Given the description of an element on the screen output the (x, y) to click on. 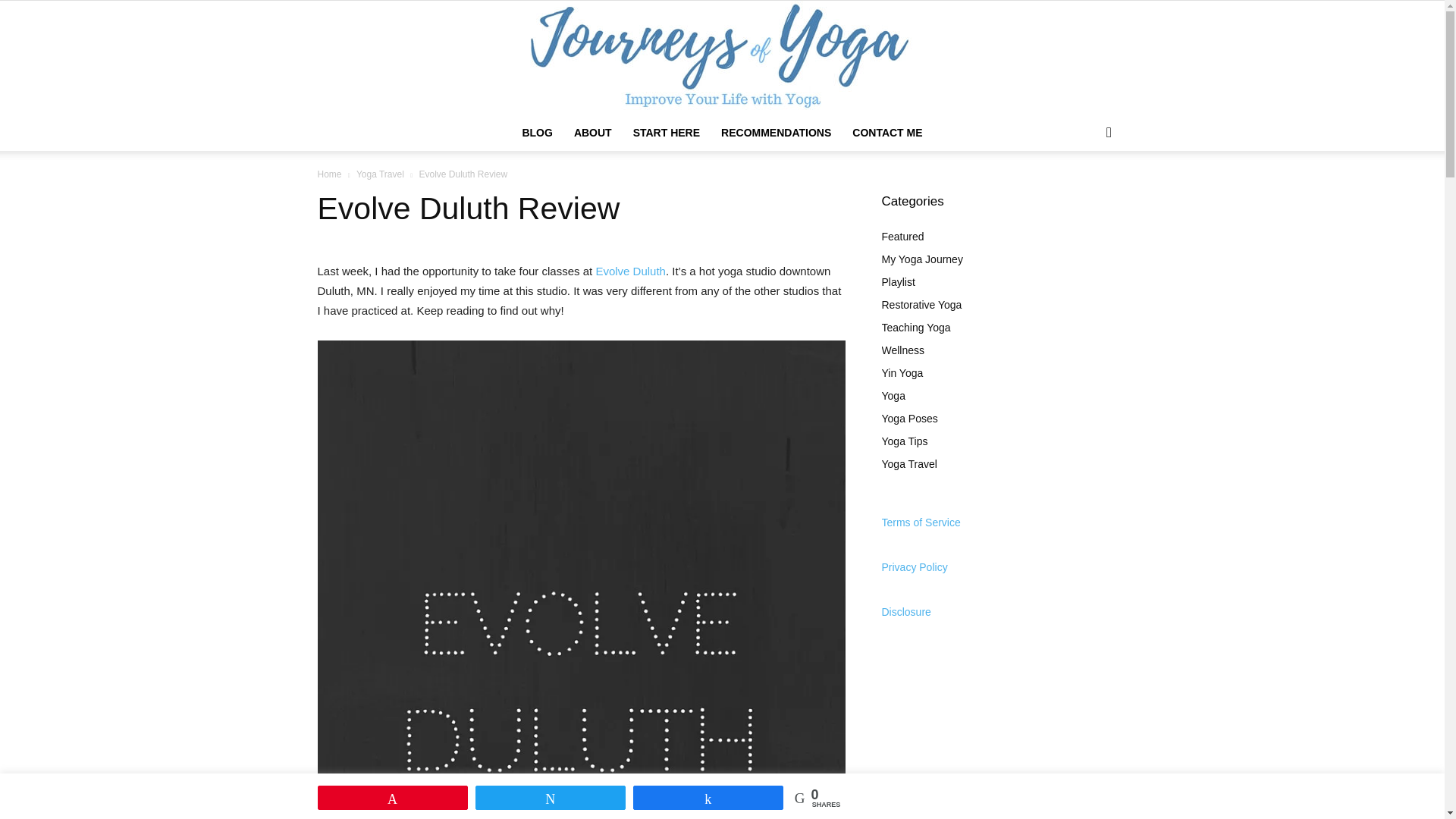
CONTACT ME (887, 132)
Evolve Duluth (630, 270)
Home (328, 173)
View all posts in Yoga Travel (380, 173)
Search (1085, 192)
ABOUT (593, 132)
RECOMMENDATIONS (775, 132)
START HERE (666, 132)
Yoga Travel (380, 173)
BLOG (536, 132)
